Given the description of an element on the screen output the (x, y) to click on. 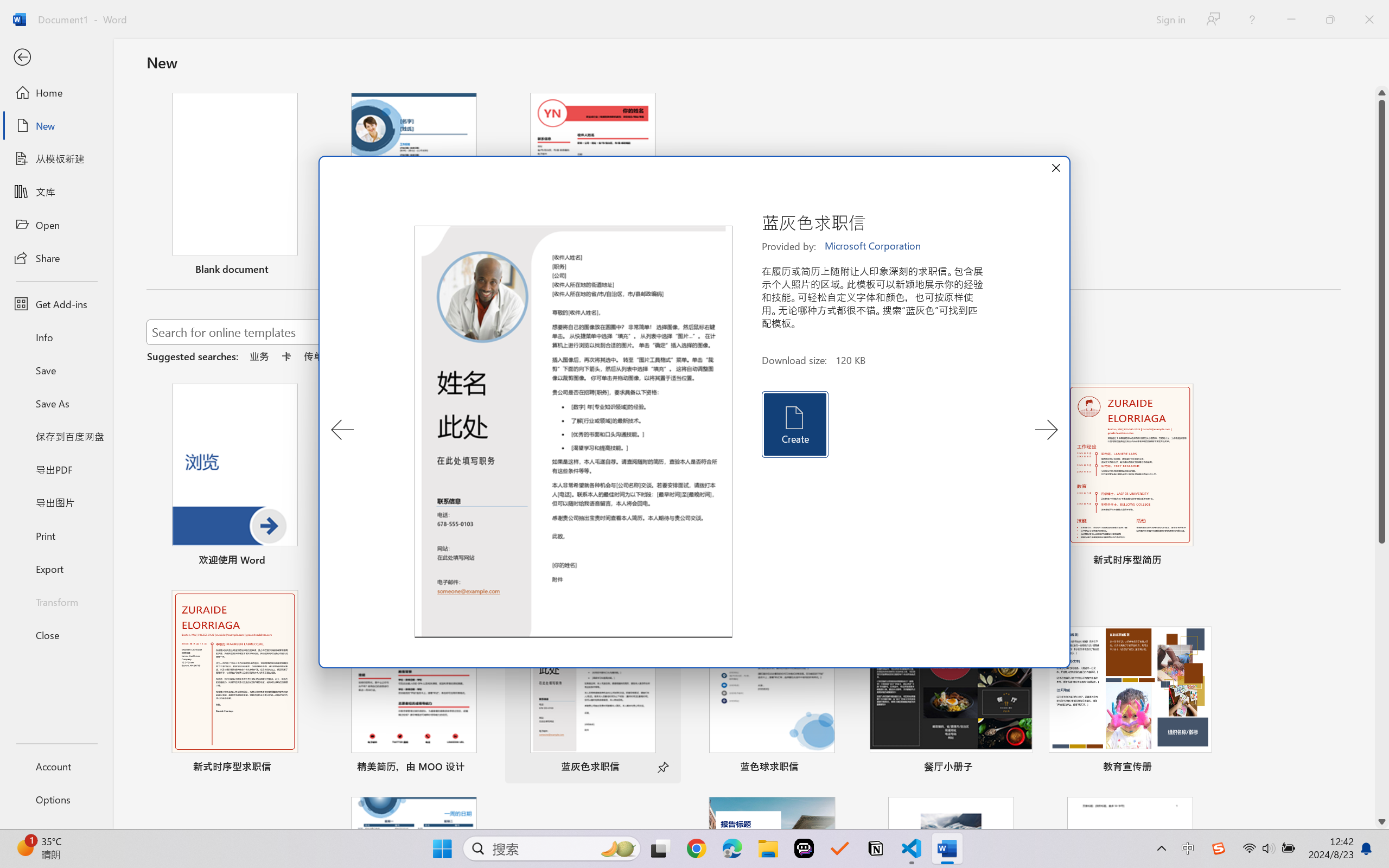
Export (56, 568)
Pin to list (1200, 767)
Microsoft Corporation (873, 246)
Line up (1382, 92)
Line down (1382, 821)
Save As (56, 403)
